Given the description of an element on the screen output the (x, y) to click on. 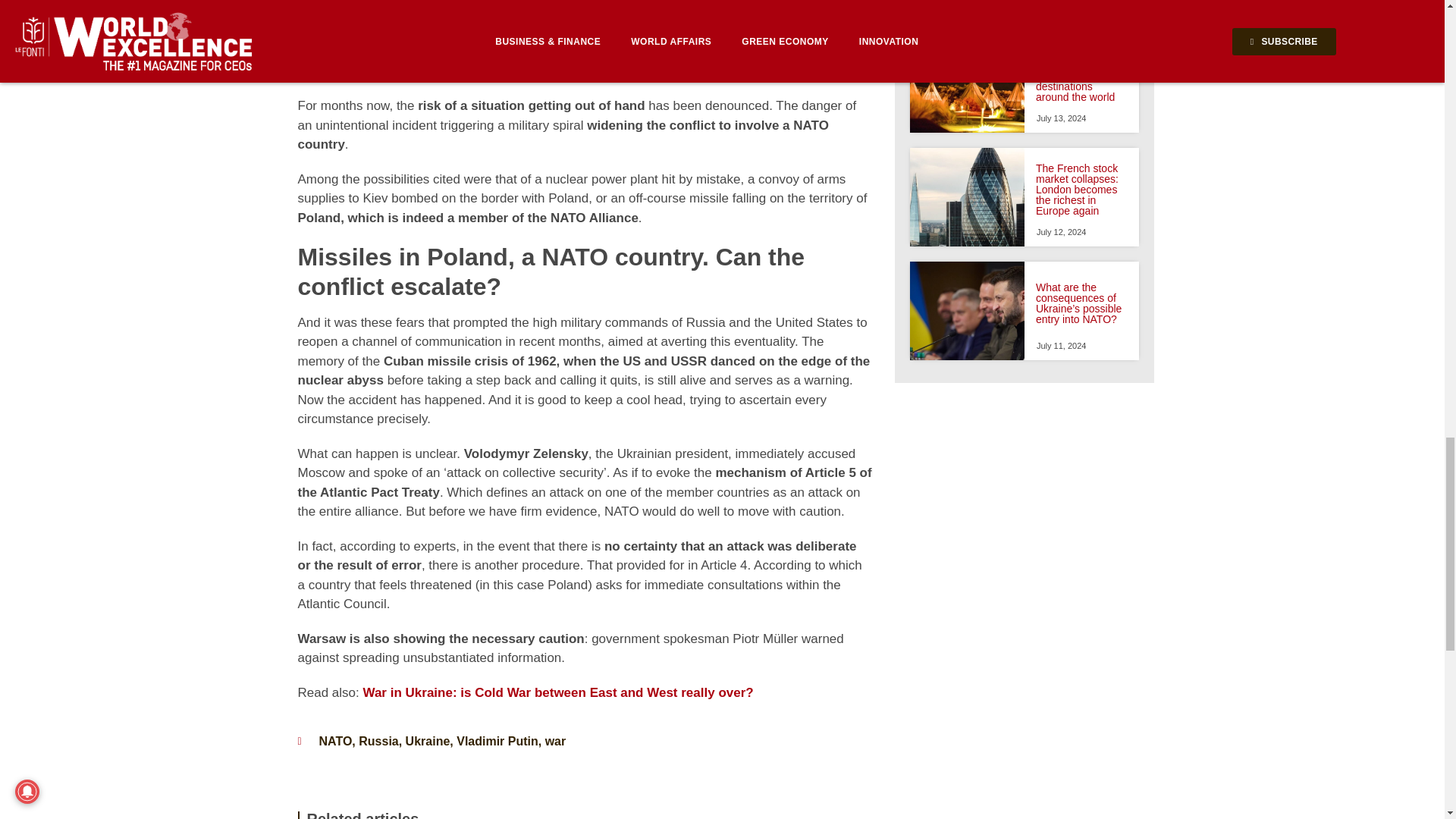
NATO (335, 740)
